Given the description of an element on the screen output the (x, y) to click on. 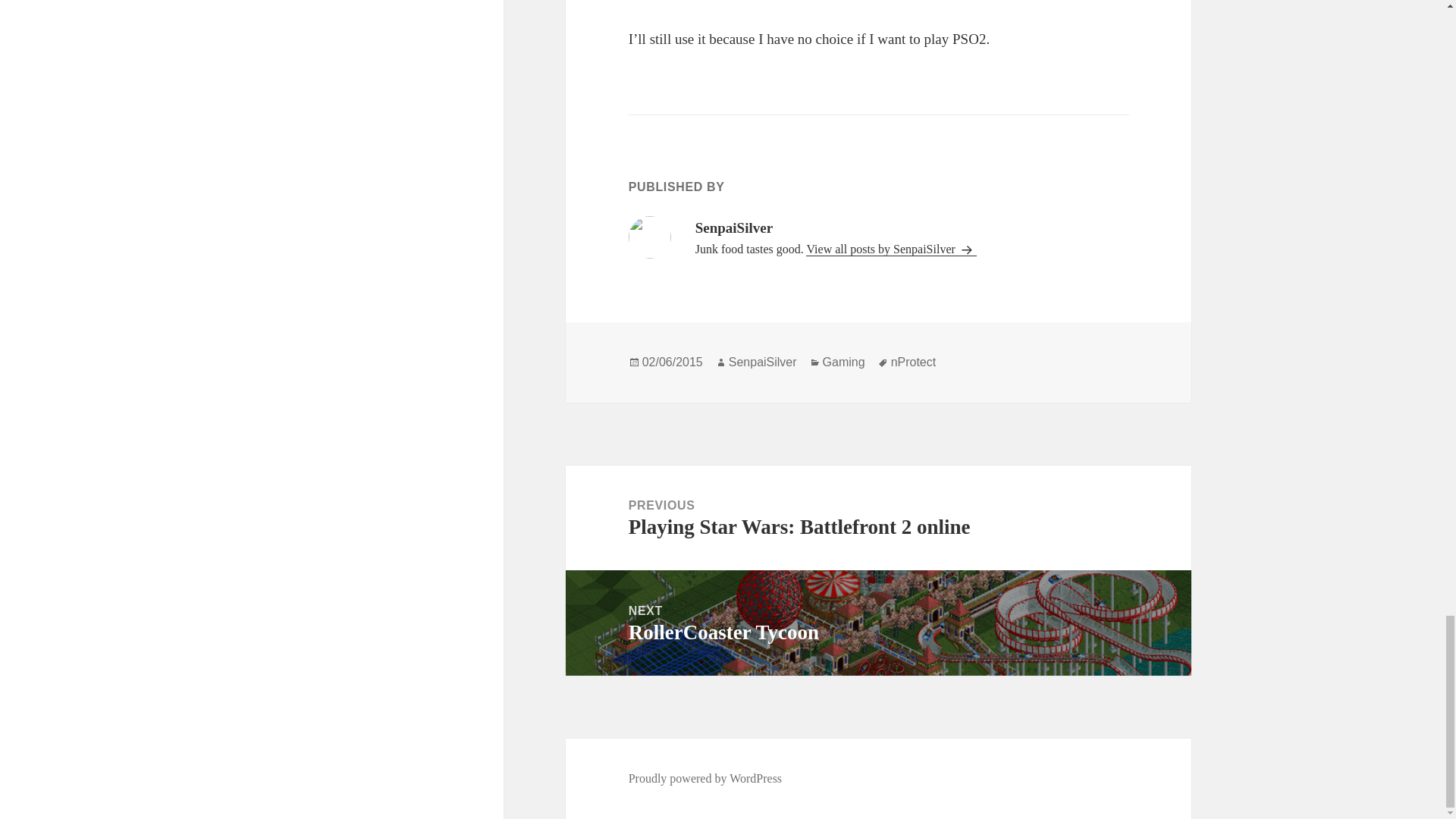
Gaming (843, 362)
nProtect (878, 622)
SenpaiSilver (913, 362)
Proudly powered by WordPress (762, 362)
View all posts by SenpaiSilver (704, 778)
